Given the description of an element on the screen output the (x, y) to click on. 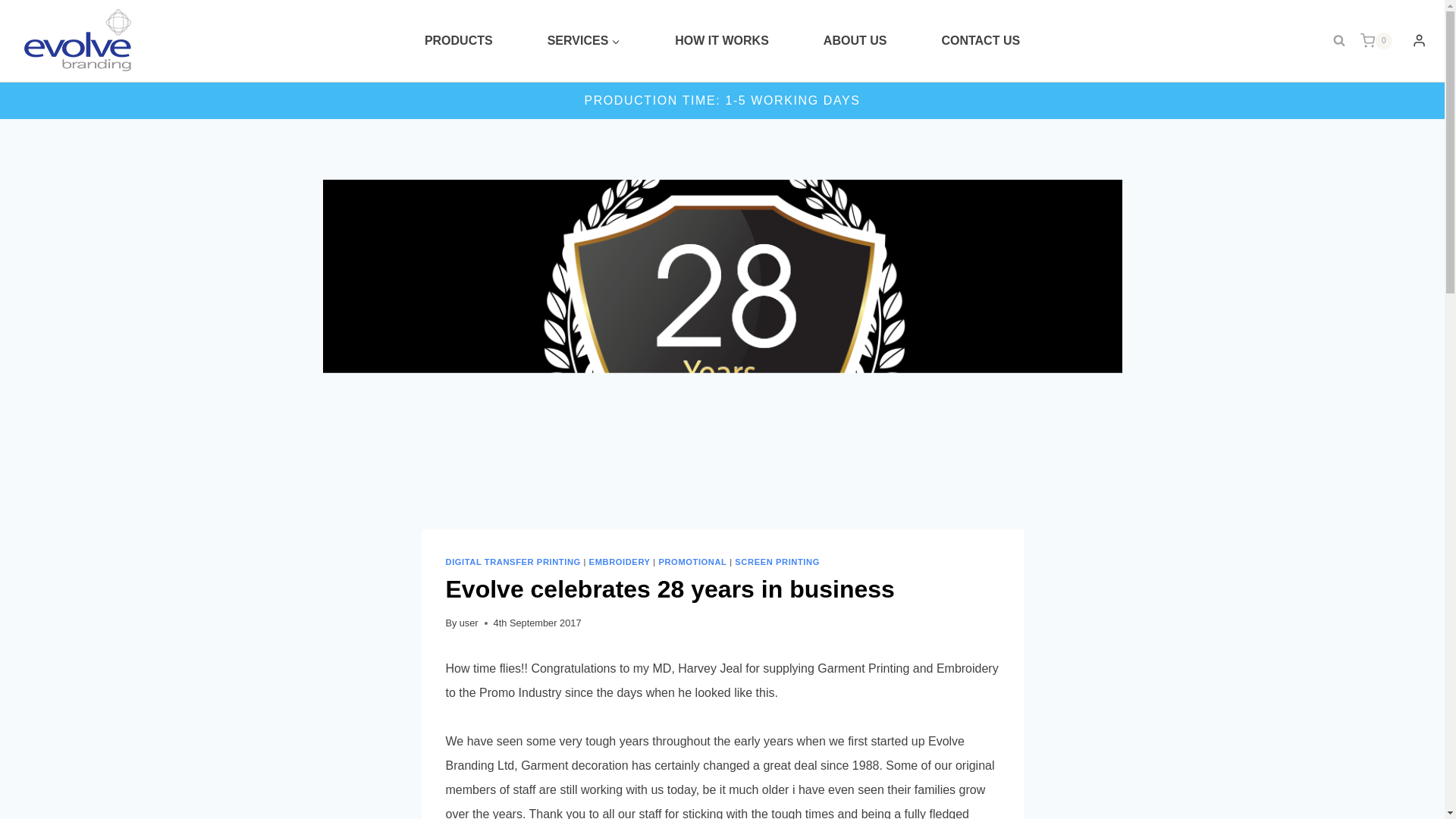
PROMOTIONAL (692, 561)
user (469, 622)
EMBROIDERY (619, 561)
HOW IT WORKS (721, 40)
0 (1382, 40)
ABOUT US (855, 40)
DIGITAL TRANSFER PRINTING (512, 561)
CONTACT US (980, 40)
SCREEN PRINTING (777, 561)
PRODUCTS (458, 40)
